Given the description of an element on the screen output the (x, y) to click on. 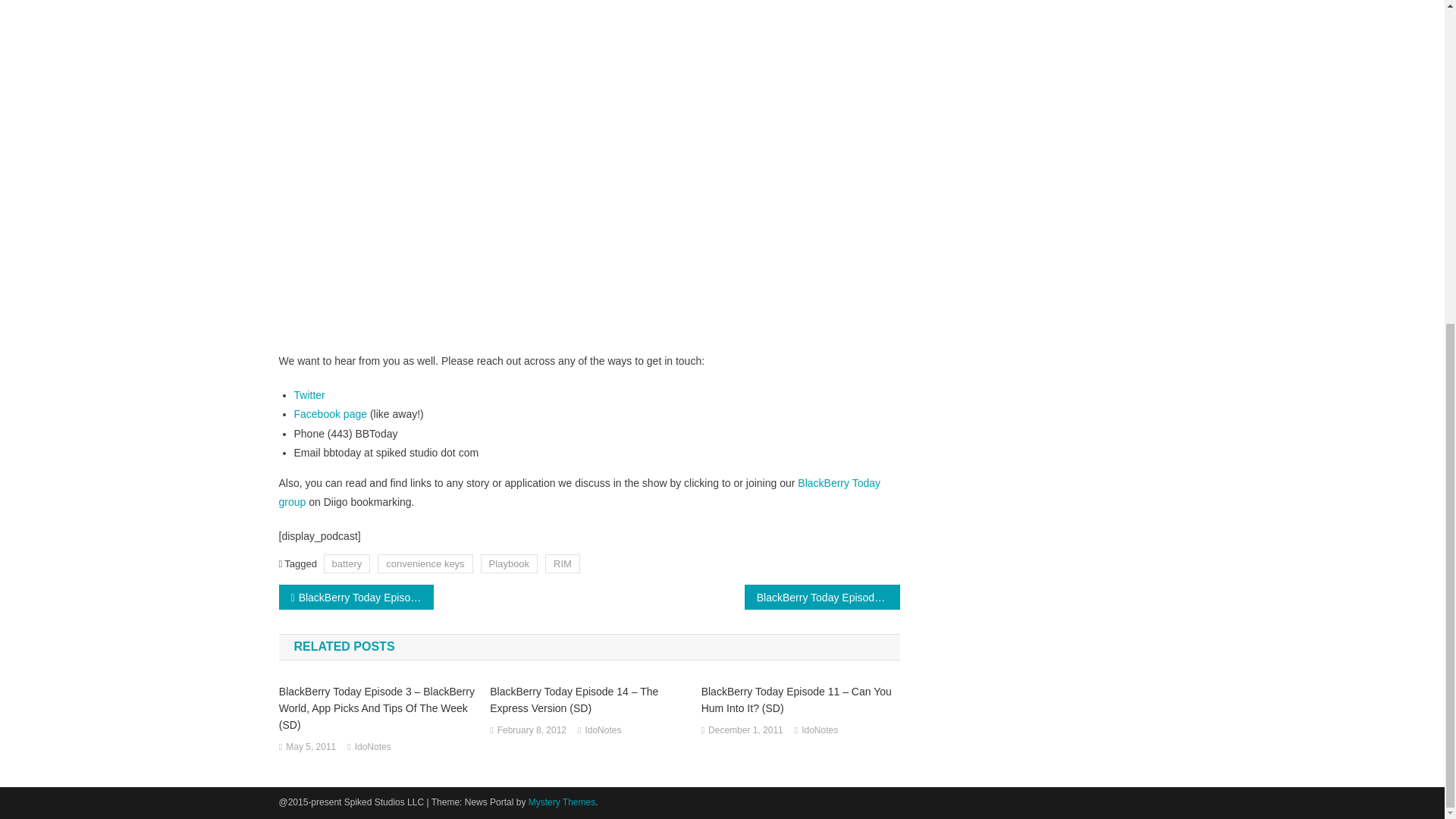
Twitter (309, 395)
Playbook (508, 563)
February 8, 2012 (531, 730)
IdoNotes (373, 747)
convenience keys (424, 563)
RIM (561, 563)
IdoNotes (603, 730)
May 5, 2011 (310, 747)
BlackBerry Today group (579, 491)
Facebook page (331, 413)
battery (347, 563)
